Given the description of an element on the screen output the (x, y) to click on. 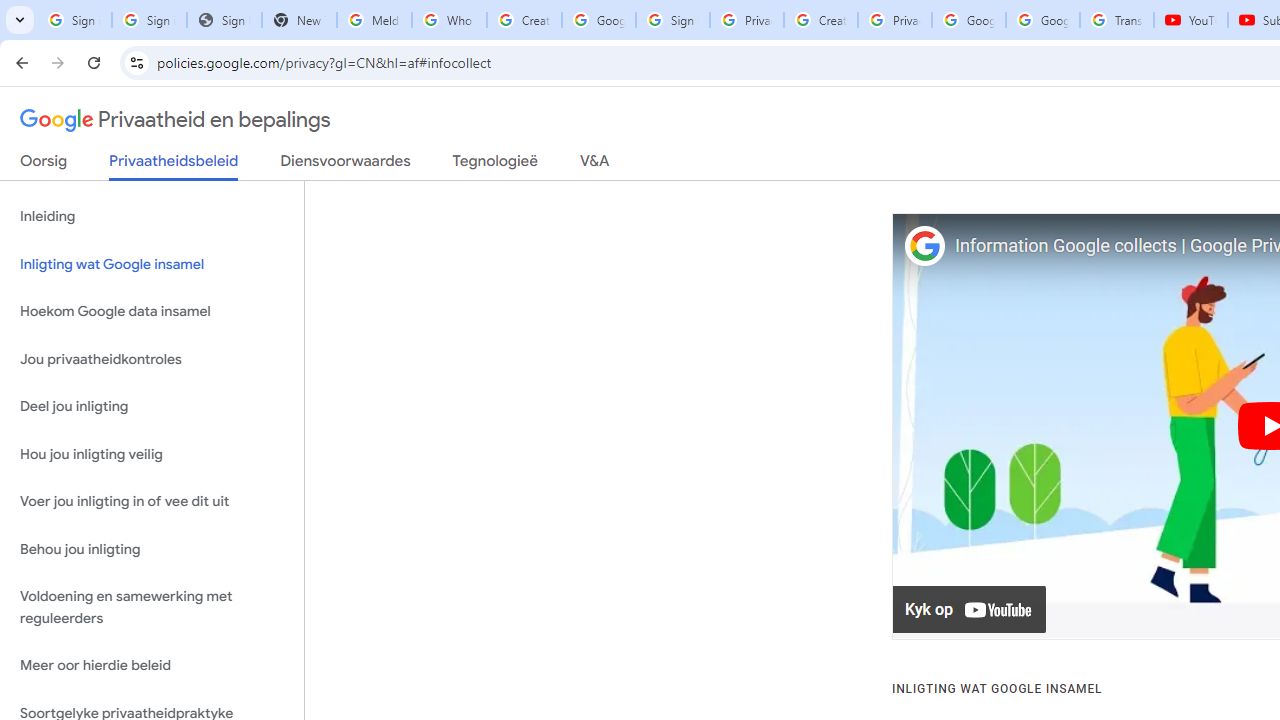
Sign In - USA TODAY (224, 20)
Diensvoorwaardes (345, 165)
Create your Google Account (820, 20)
Inleiding (152, 216)
New Tab (299, 20)
V&A (594, 165)
Kyk op YouTube (970, 610)
Sign in - Google Accounts (673, 20)
Who is my administrator? - Google Account Help (449, 20)
Voldoening en samewerking met reguleerders (152, 607)
